Given the description of an element on the screen output the (x, y) to click on. 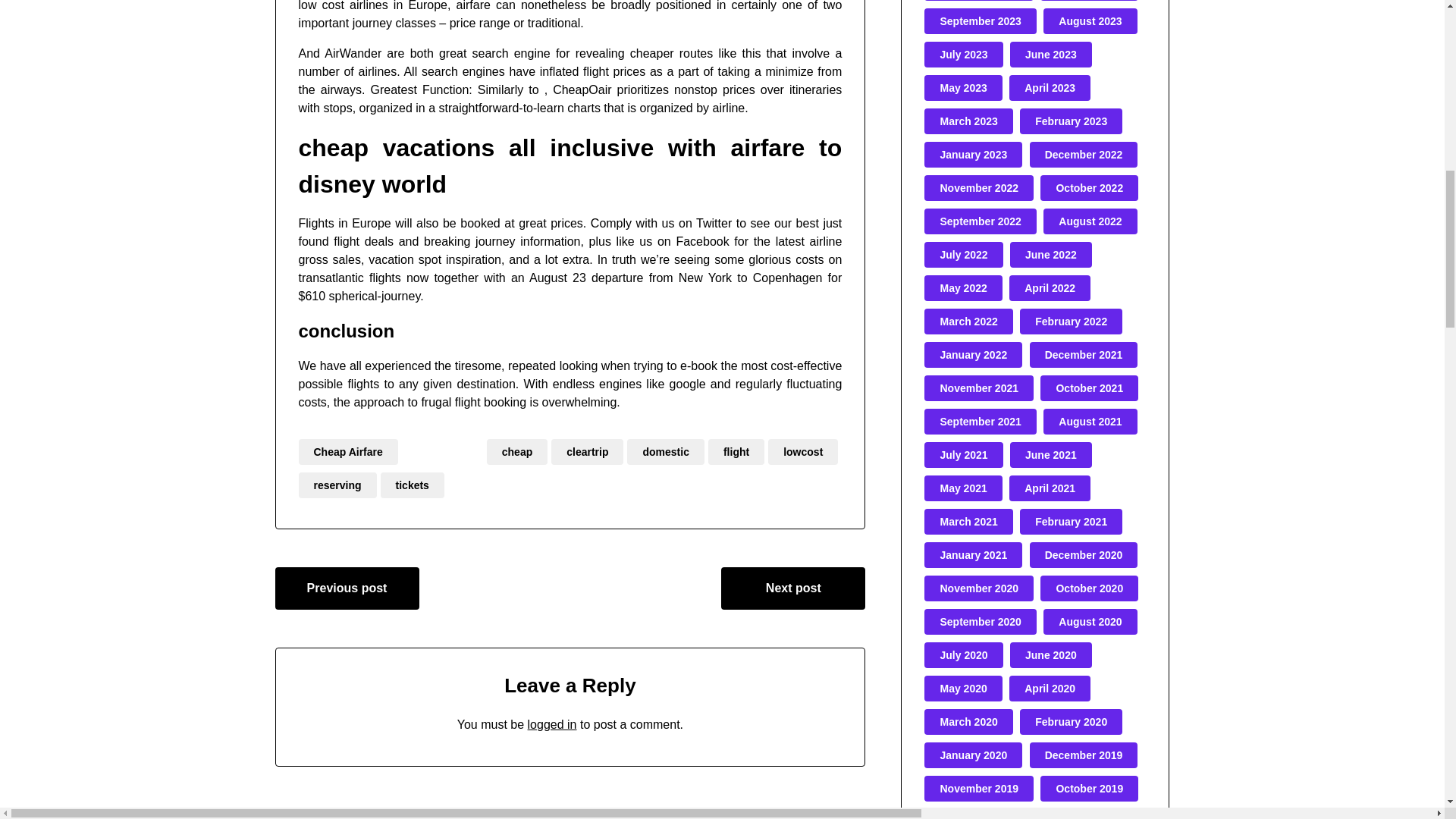
Cheap Airfare (347, 451)
cheap (516, 451)
